Given the description of an element on the screen output the (x, y) to click on. 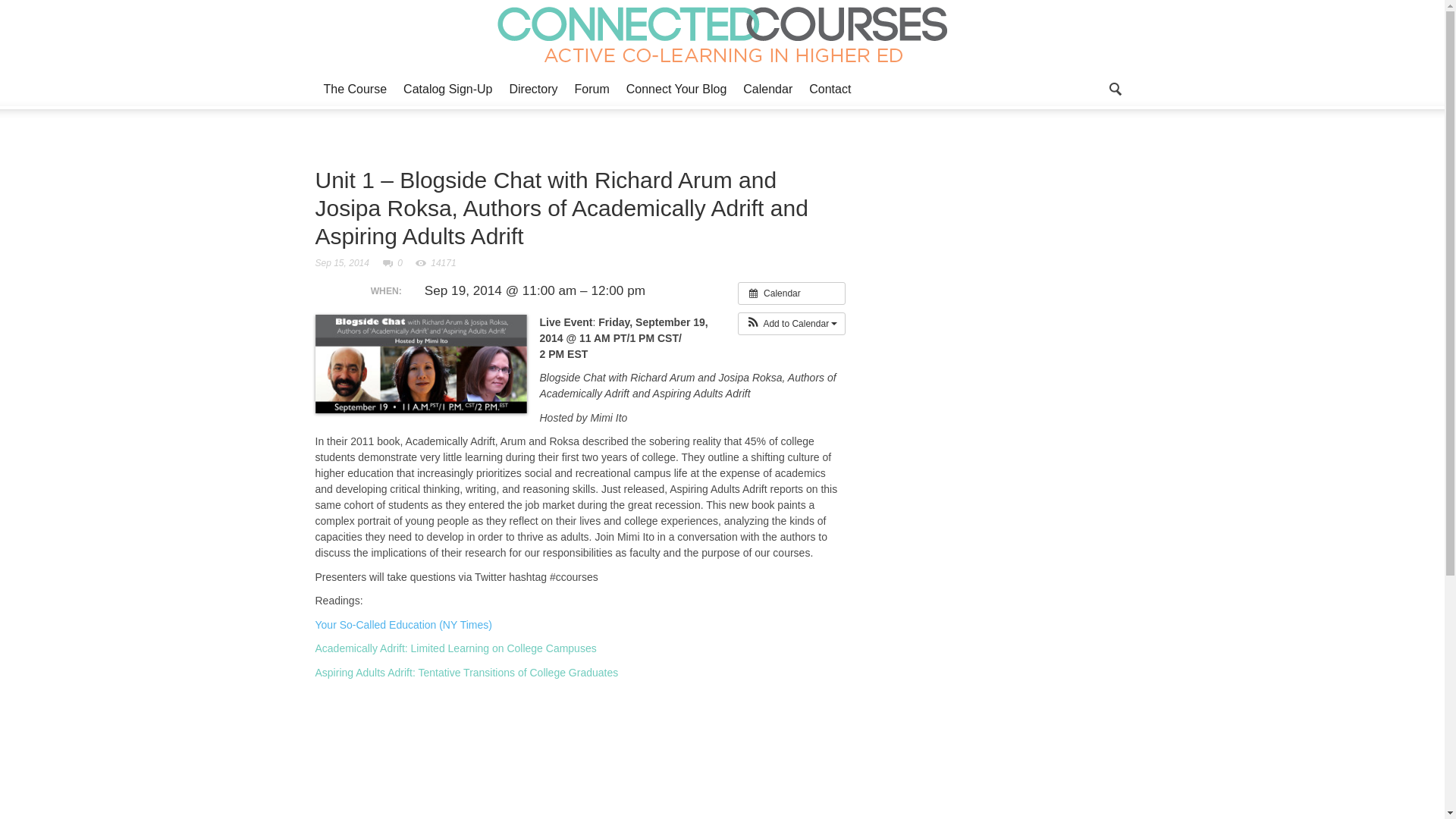
Directory (533, 88)
Catalog Sign-Up (447, 88)
View all events (791, 292)
Forum (591, 88)
Connect Your Blog (676, 88)
Calendar (767, 88)
The Course (355, 88)
